Given the description of an element on the screen output the (x, y) to click on. 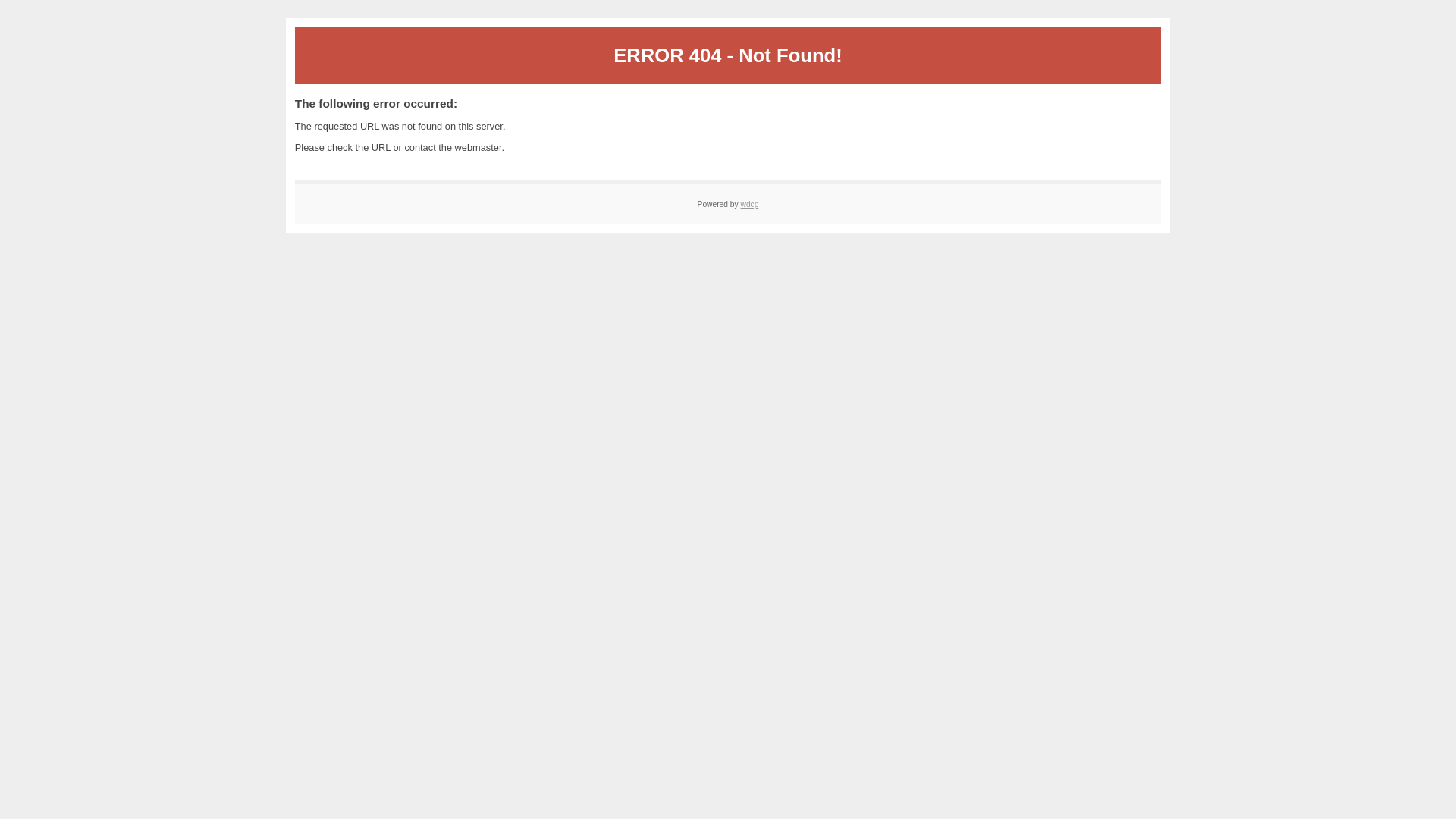
wdcp Element type: text (749, 204)
